Given the description of an element on the screen output the (x, y) to click on. 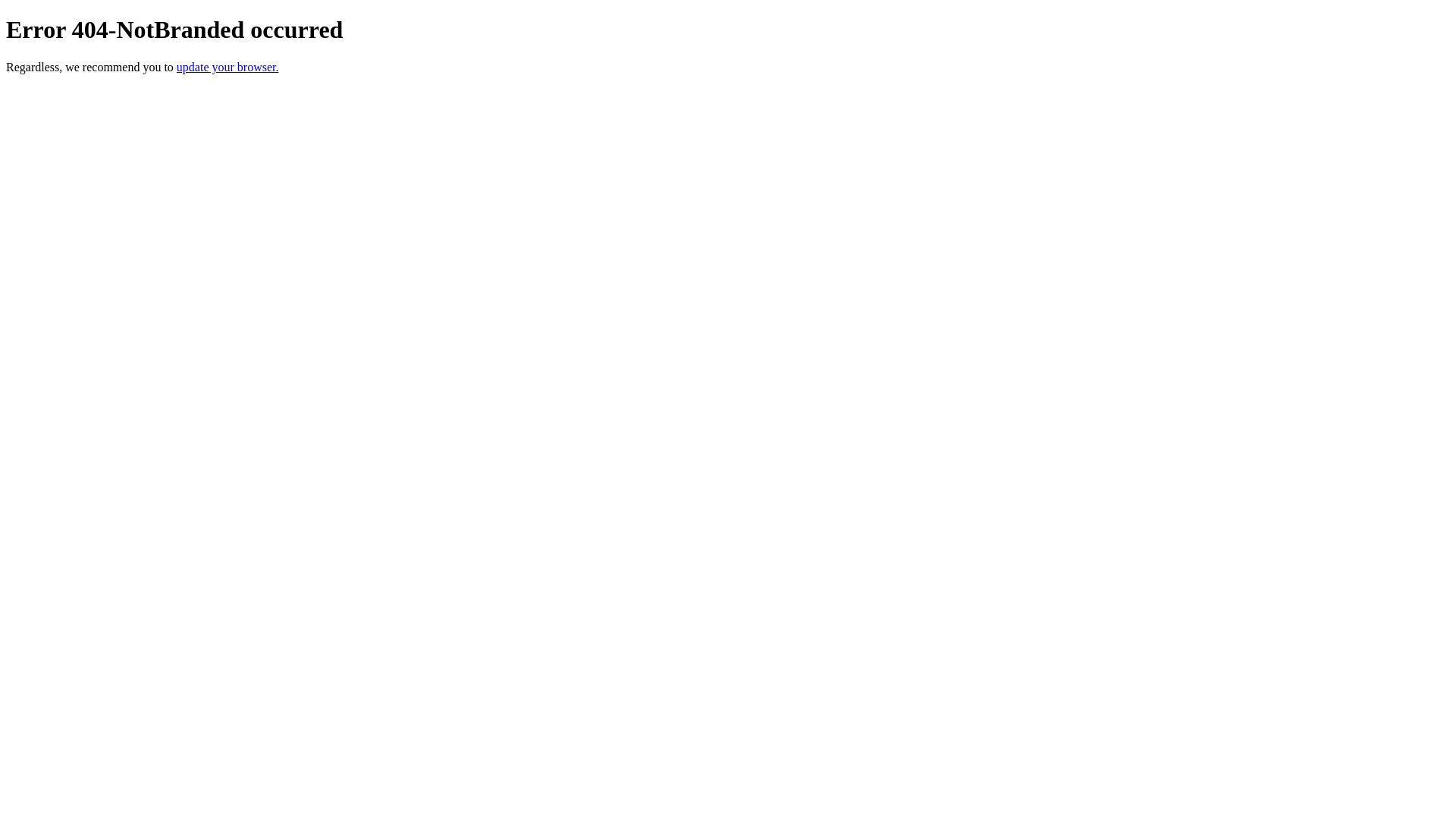
update your browser. Element type: text (227, 66)
